Given the description of an element on the screen output the (x, y) to click on. 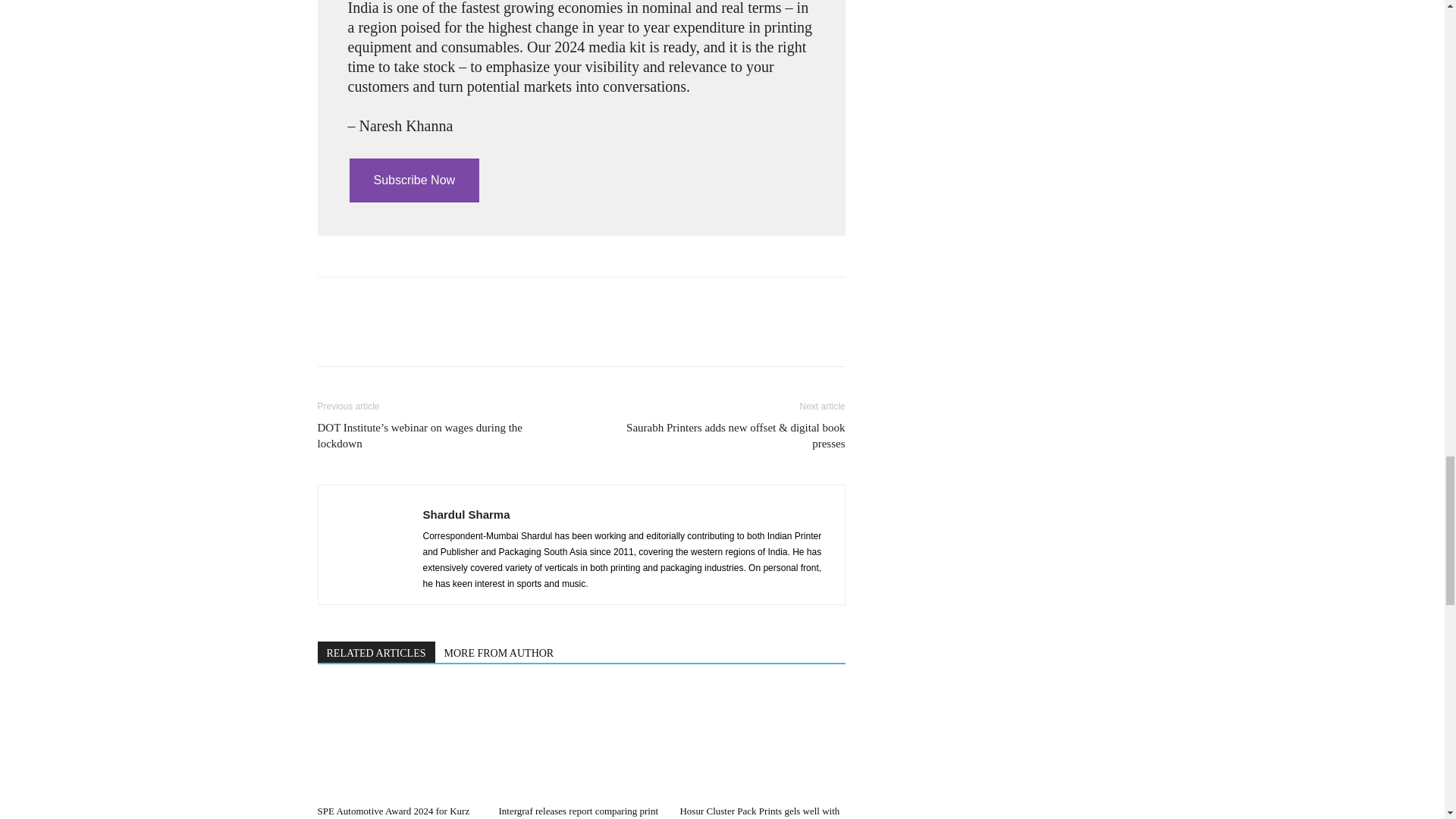
bottomFacebookLike (430, 301)
